Given the description of an element on the screen output the (x, y) to click on. 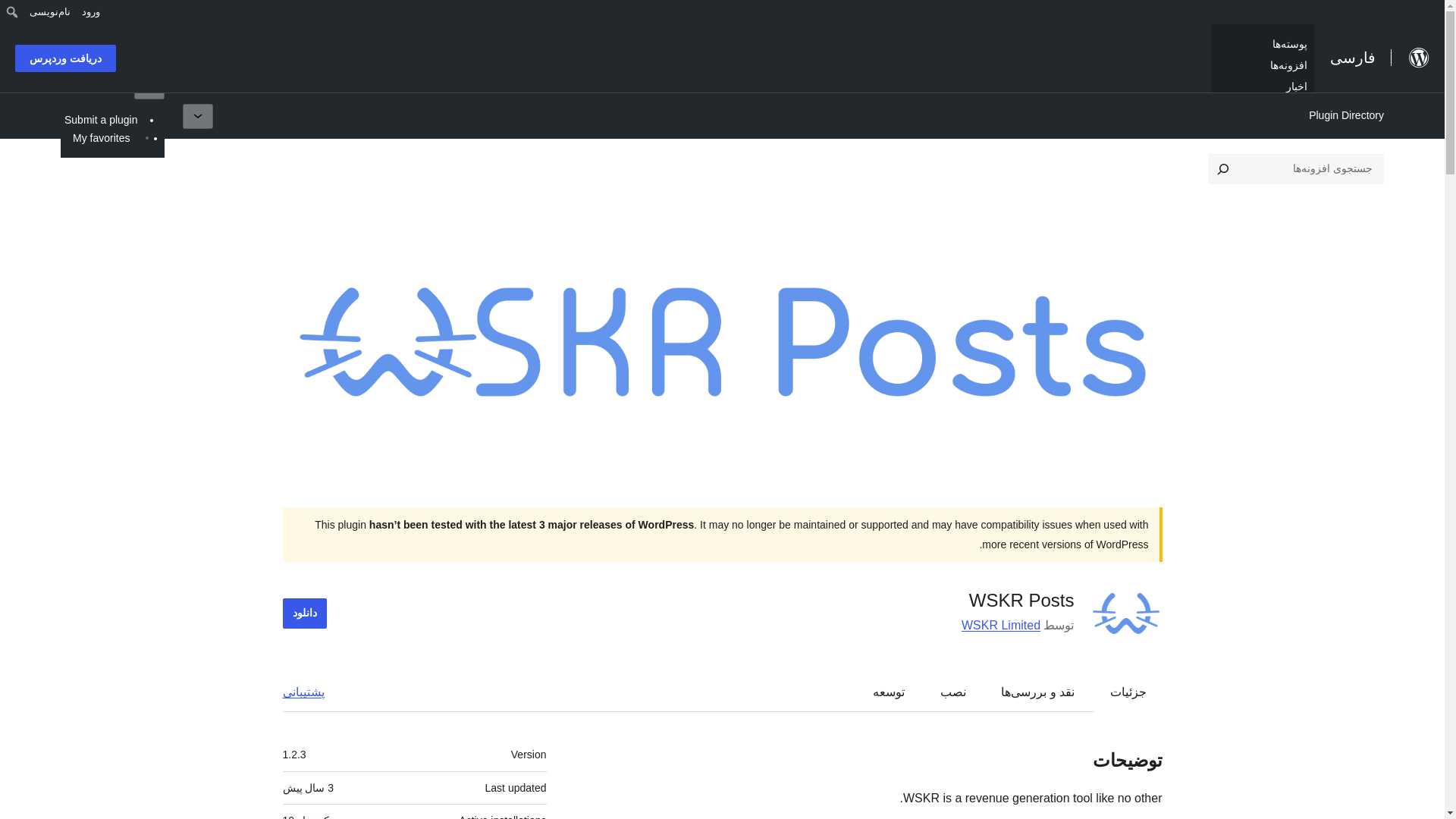
Plugin Directory (1345, 115)
My favorites (100, 137)
WSKR Limited (1000, 625)
Submit a plugin (101, 119)
